Given the description of an element on the screen output the (x, y) to click on. 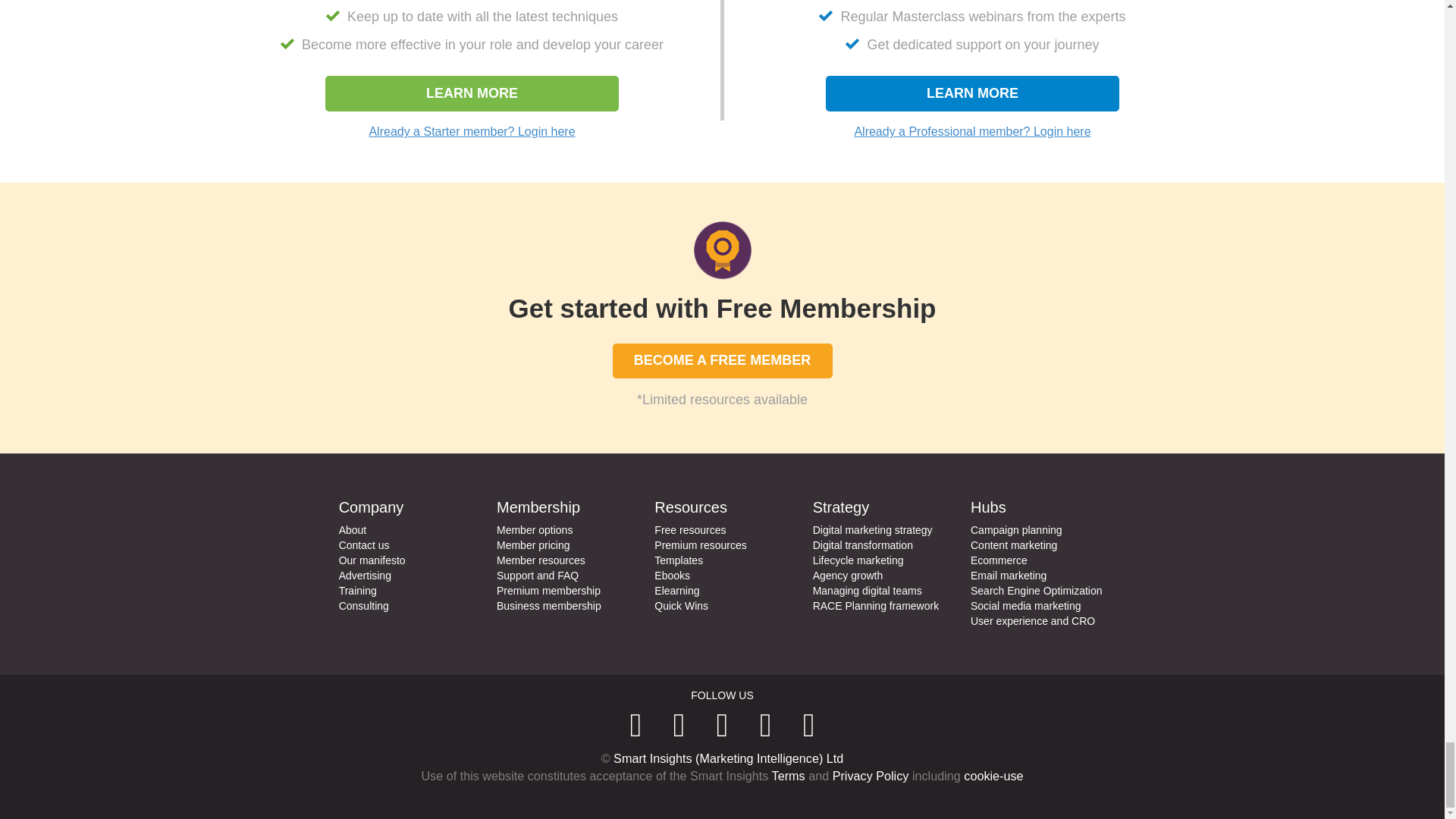
Connect with us on Linked In (635, 725)
Subscribe to our RSS feed (809, 725)
Follow us on Instagram (765, 725)
Follow us on Twitter (722, 725)
Join us on Facebook (678, 725)
